Given the description of an element on the screen output the (x, y) to click on. 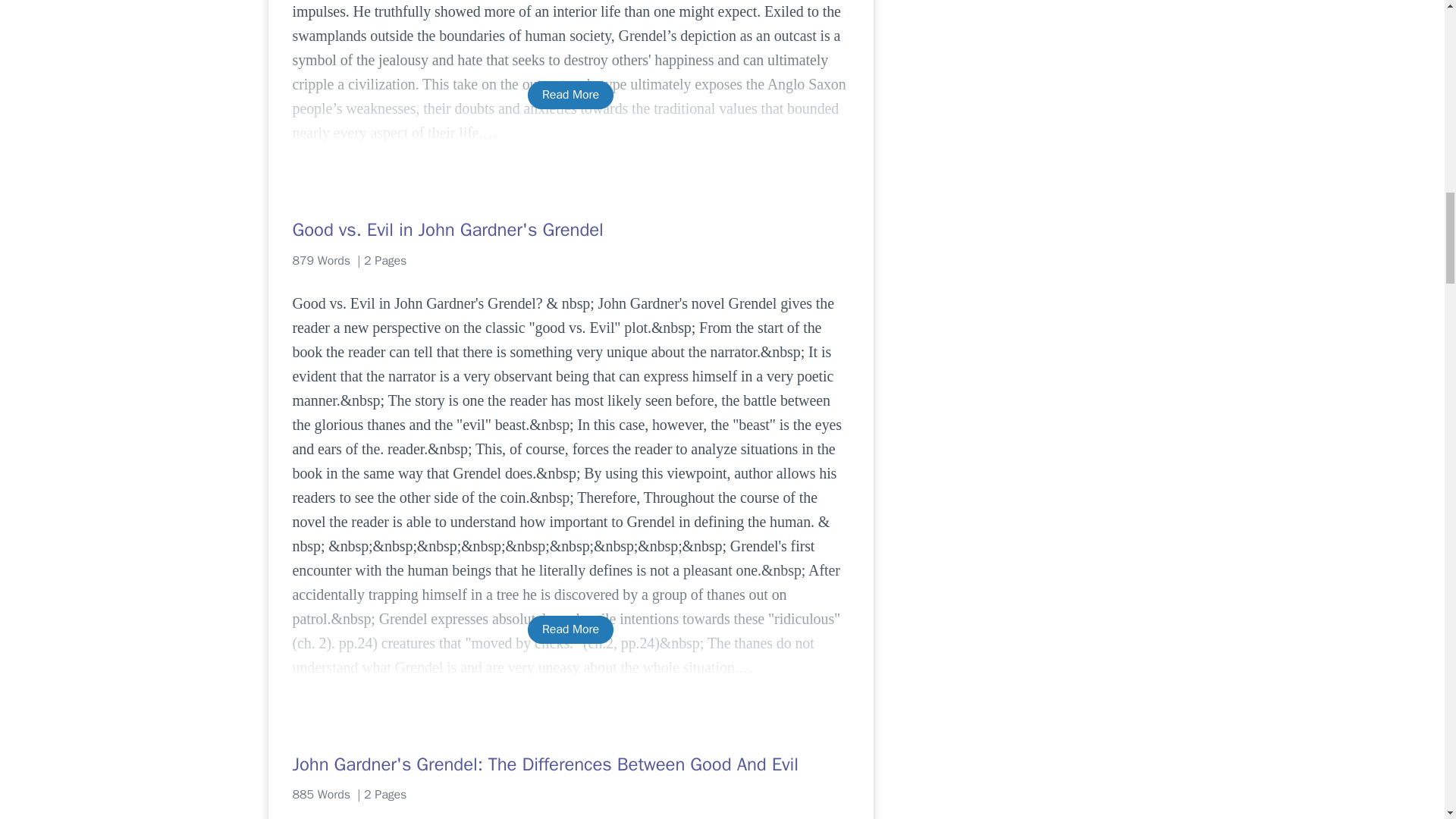
Read More (569, 629)
Read More (569, 94)
Good vs. Evil in John Gardner's Grendel (570, 229)
